Given the description of an element on the screen output the (x, y) to click on. 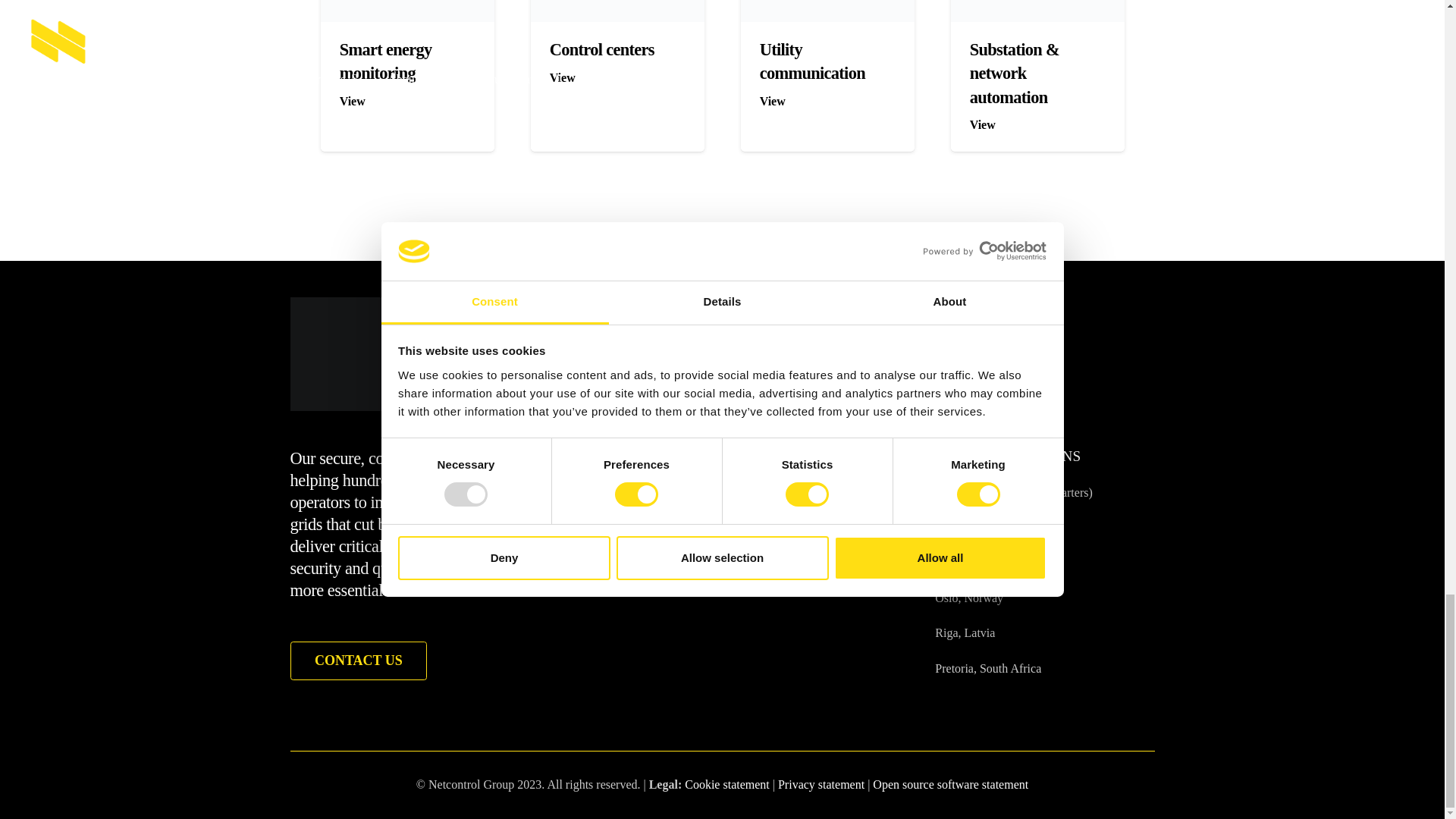
Contact (357, 660)
